Given the description of an element on the screen output the (x, y) to click on. 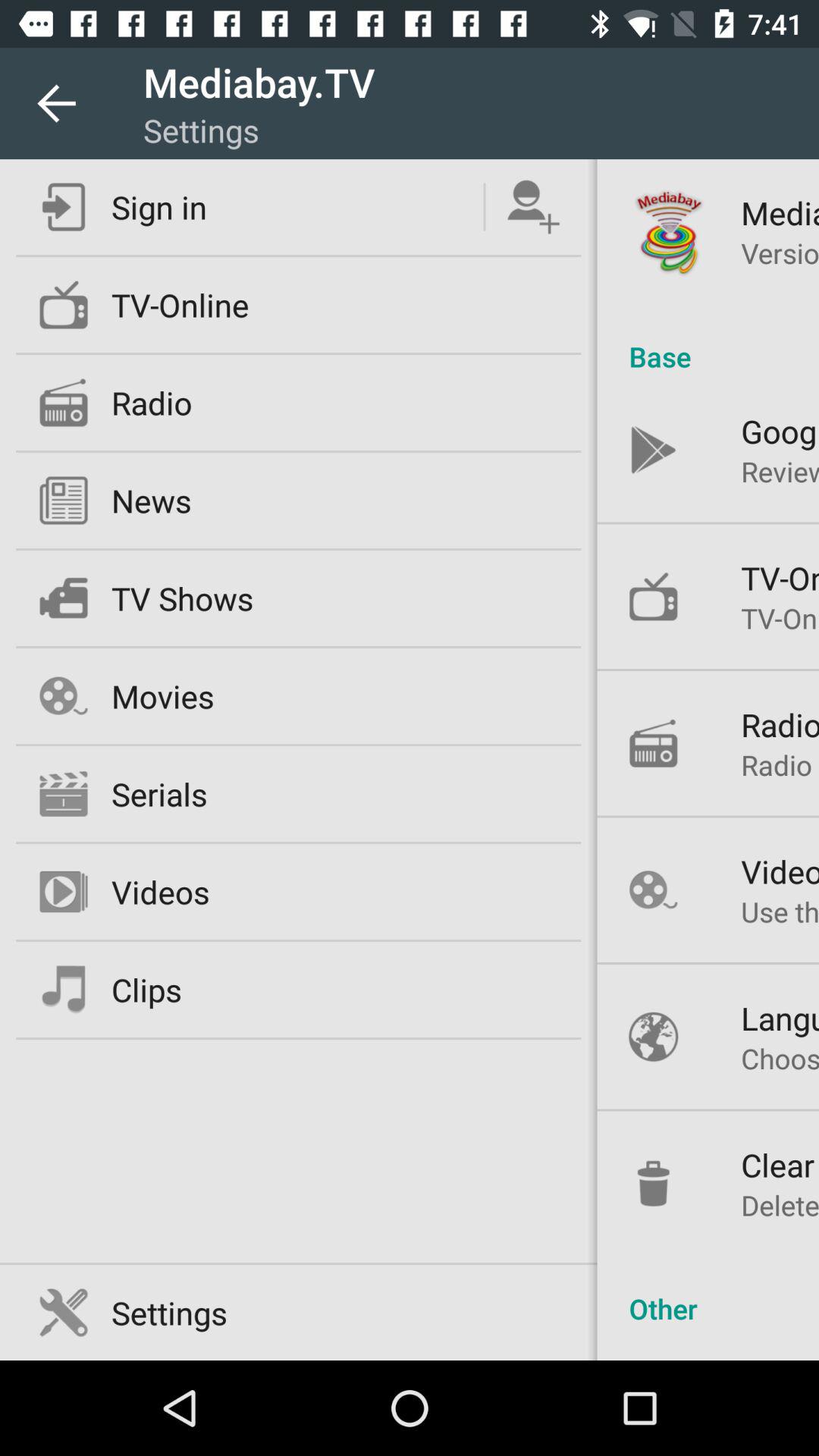
launch item to the right of tv-online icon (708, 340)
